Given the description of an element on the screen output the (x, y) to click on. 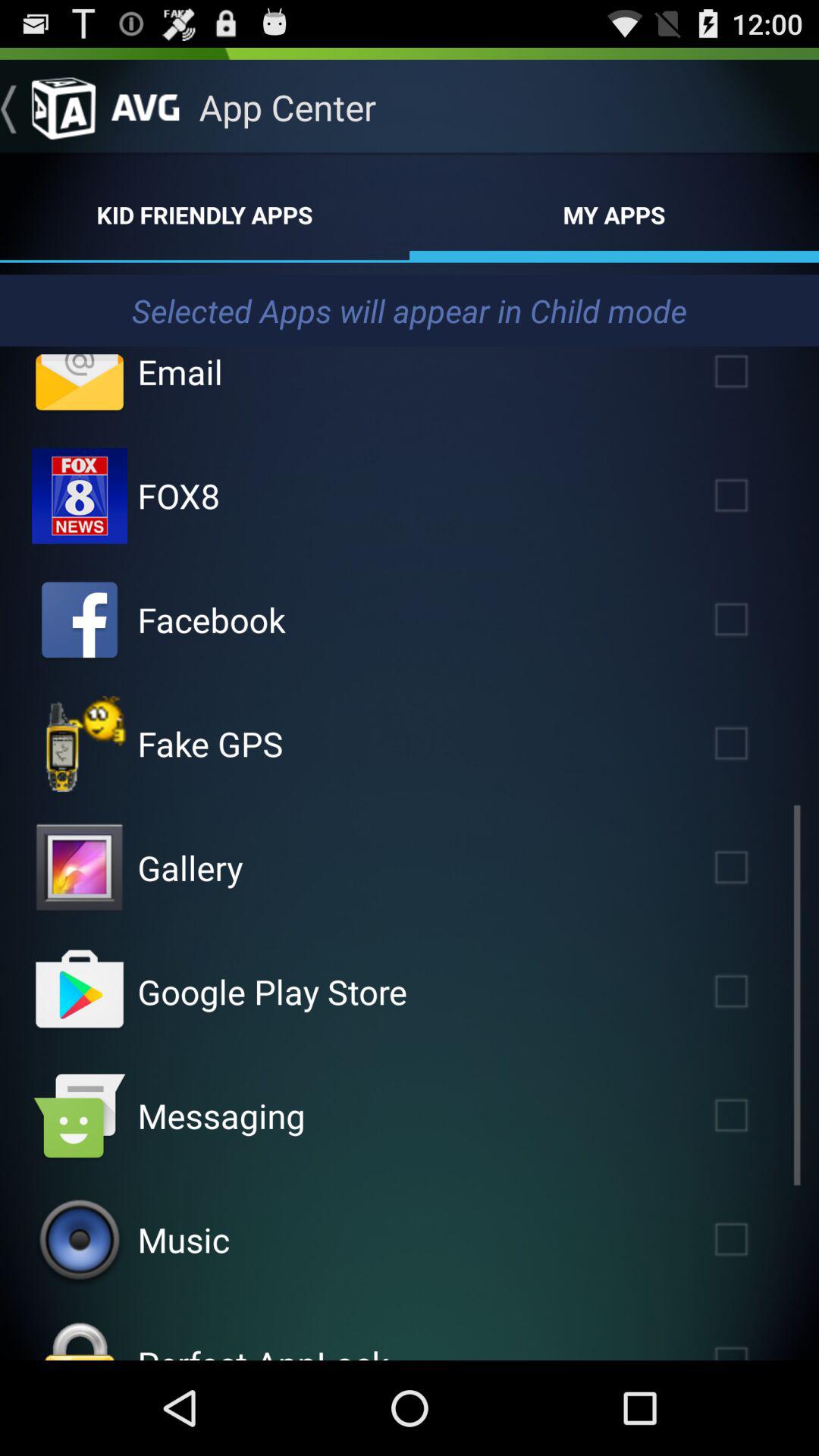
opens app in child mode (753, 867)
